Given the description of an element on the screen output the (x, y) to click on. 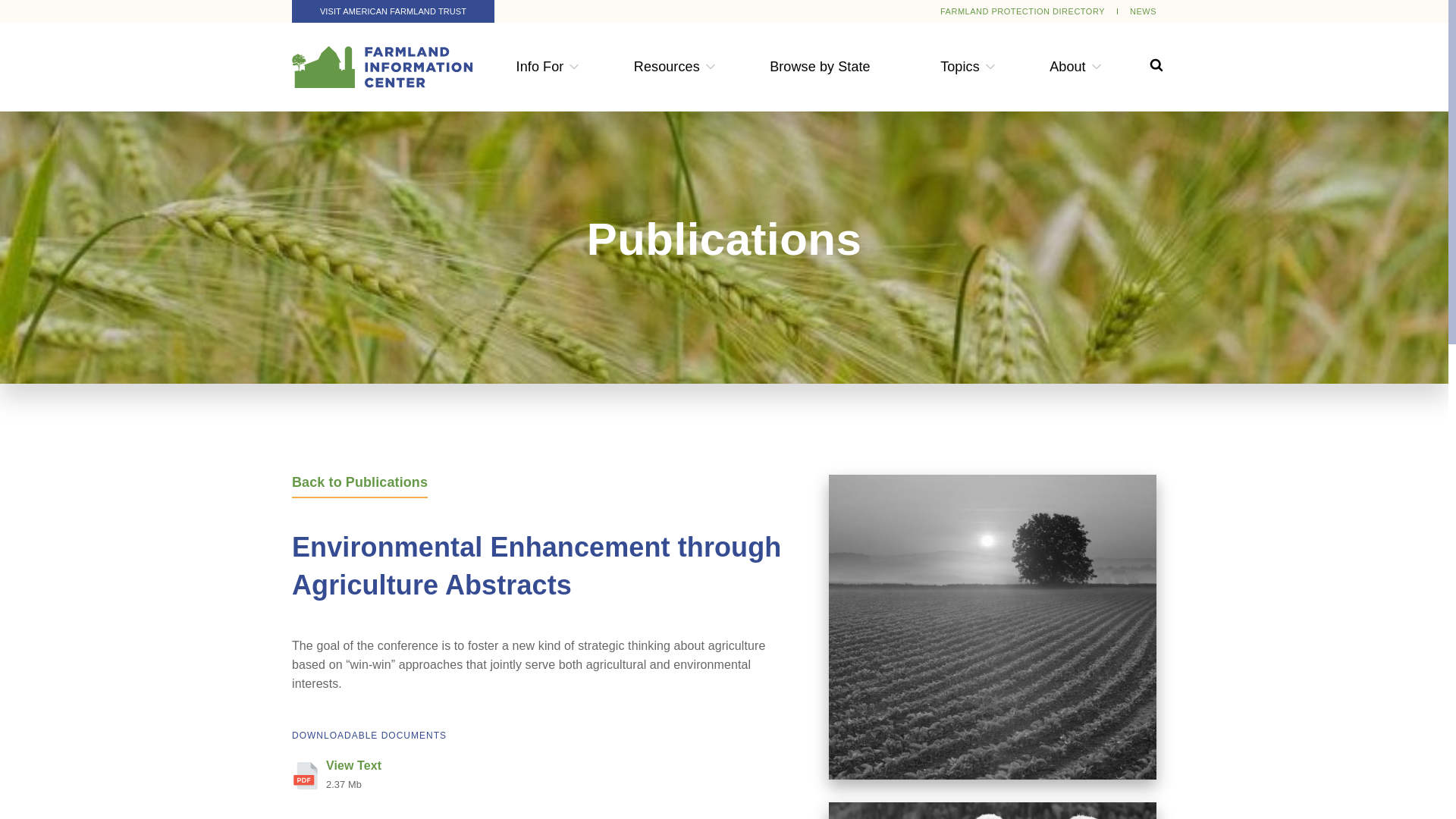
FARMLAND PROTECTION DIRECTORY (1022, 10)
Resources (666, 66)
NEWS (1142, 10)
VISIT AMERICAN FARMLAND TRUST (393, 11)
